Given the description of an element on the screen output the (x, y) to click on. 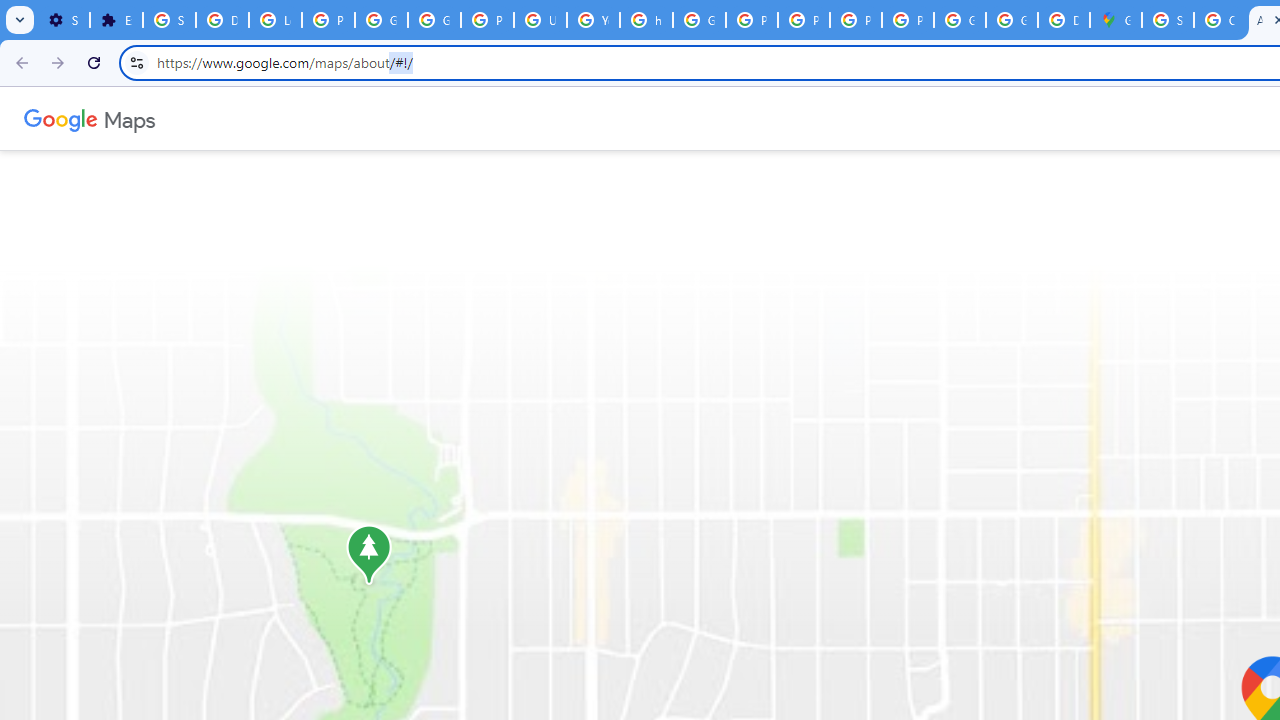
YouTube (593, 20)
